Given the description of an element on the screen output the (x, y) to click on. 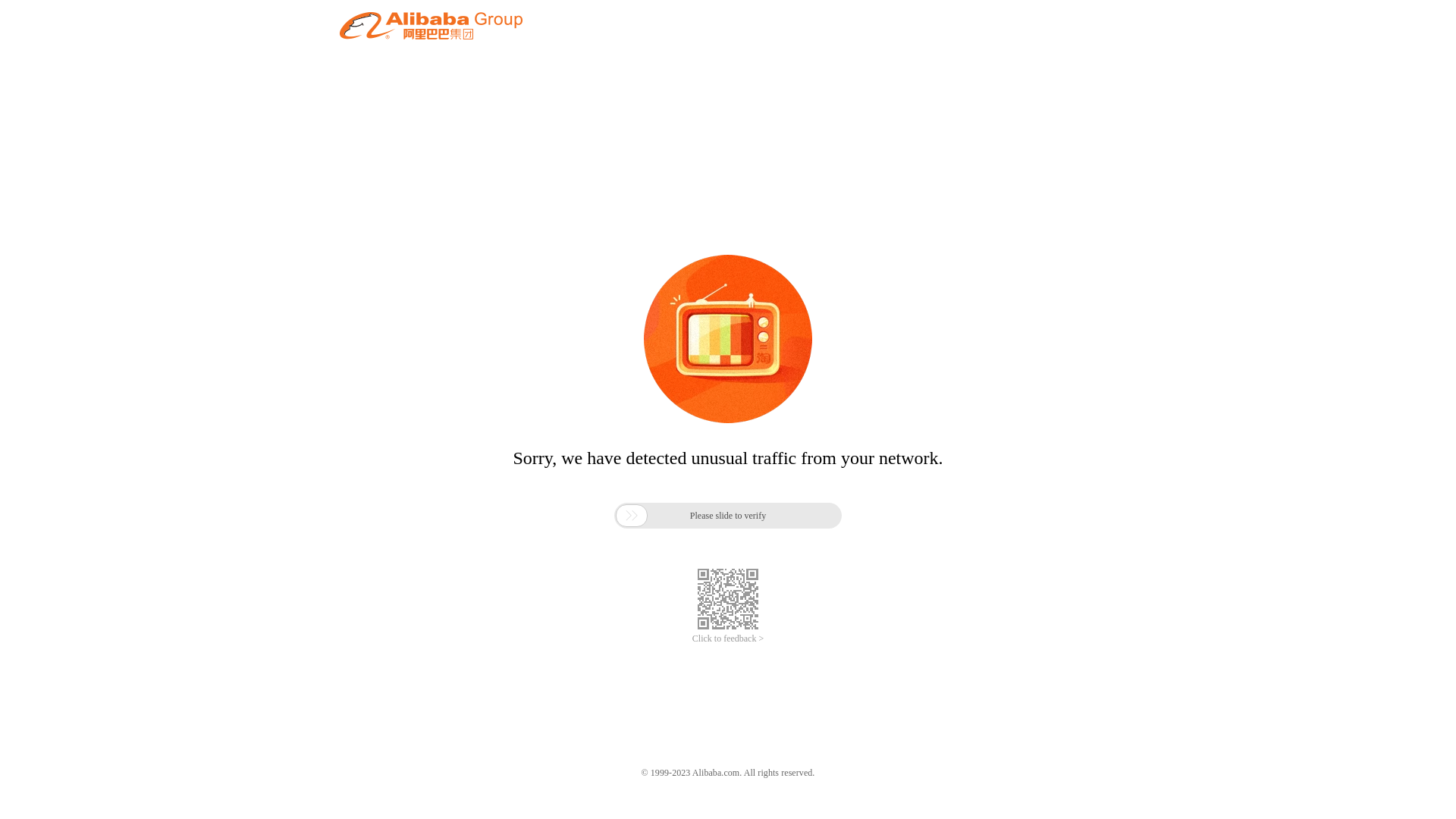
Click to feedback > Element type: text (727, 638)
